Given the description of an element on the screen output the (x, y) to click on. 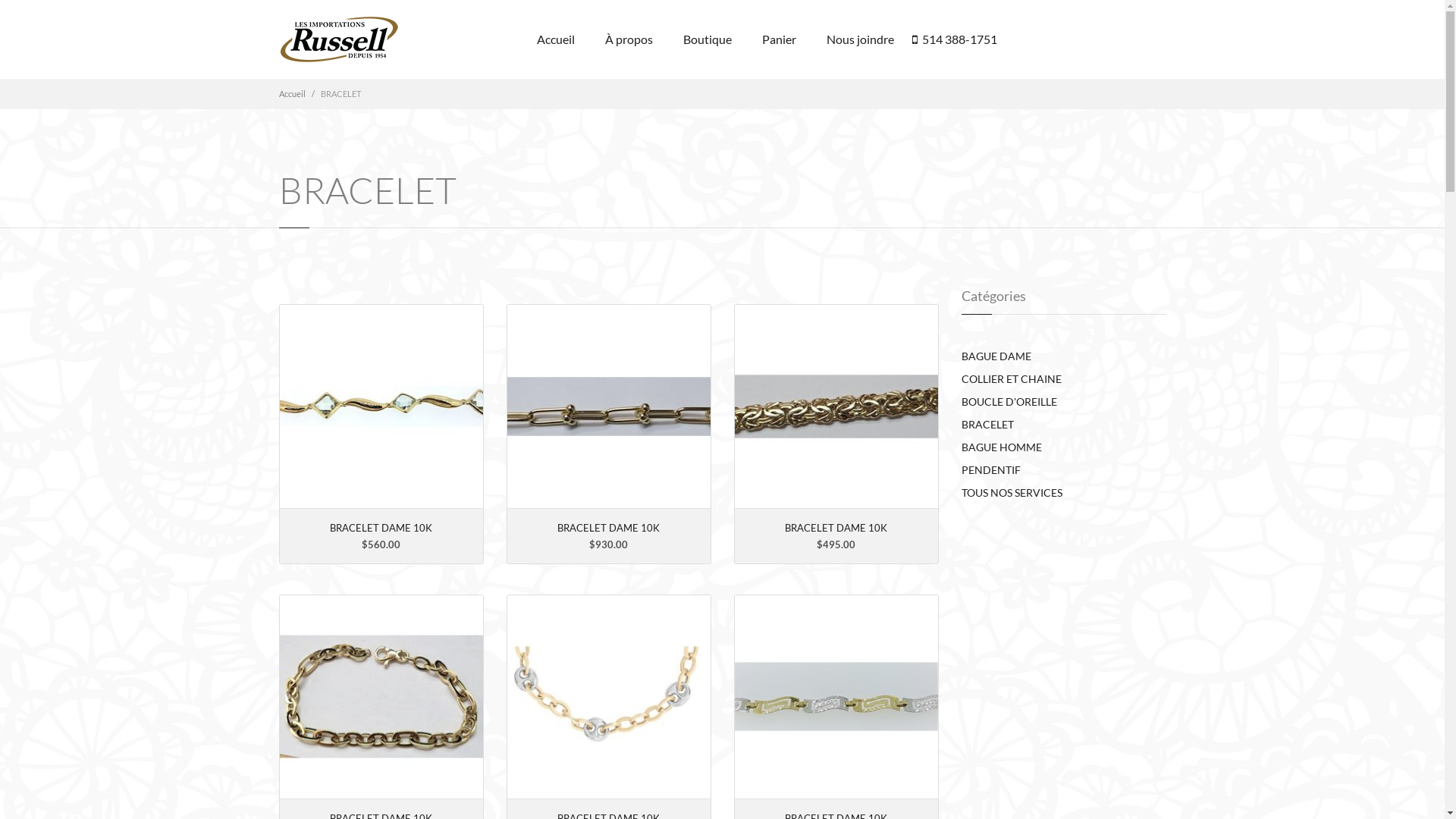
BRACELET DAME 10K Element type: text (380, 527)
BRACELET Element type: text (987, 423)
BRACELET DAME 10K Element type: text (608, 527)
Panier Element type: text (778, 38)
Accueil Element type: text (292, 93)
Nous joindre Element type: text (860, 38)
TOUS NOS SERVICES Element type: text (1011, 492)
PENDENTIF Element type: text (990, 469)
Boutique Element type: text (706, 38)
COLLIER ET CHAINE Element type: text (1011, 378)
BAGUE HOMME Element type: text (1001, 446)
BRACELET DAME 10K Element type: text (835, 527)
BAGUE DAME Element type: text (996, 355)
BOUCLE D'OREILLE Element type: text (1009, 401)
Accueil Element type: text (555, 38)
